Given the description of an element on the screen output the (x, y) to click on. 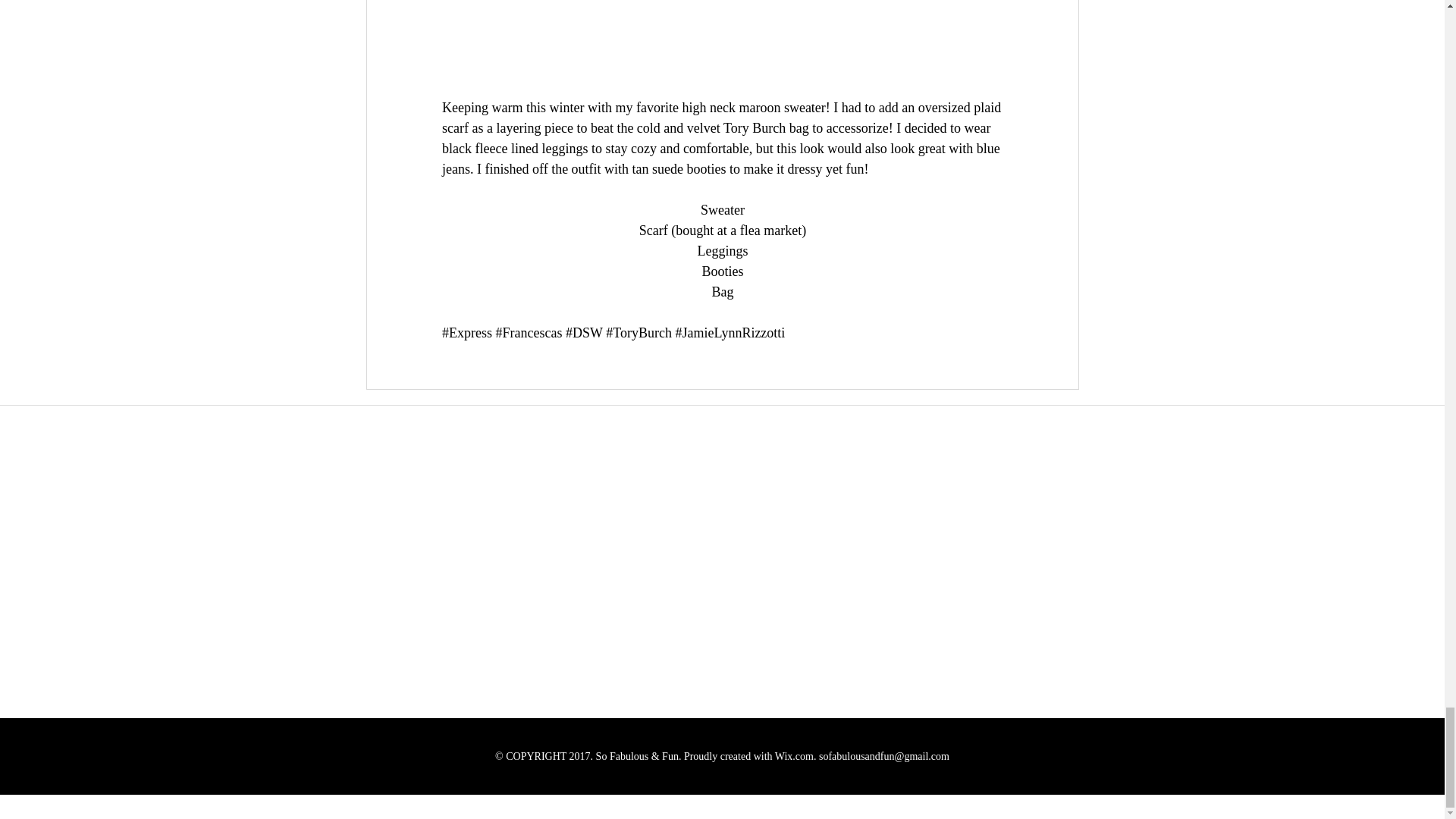
Sweater (722, 209)
Bag (722, 291)
Booties (721, 271)
Leggings (722, 250)
